Given the description of an element on the screen output the (x, y) to click on. 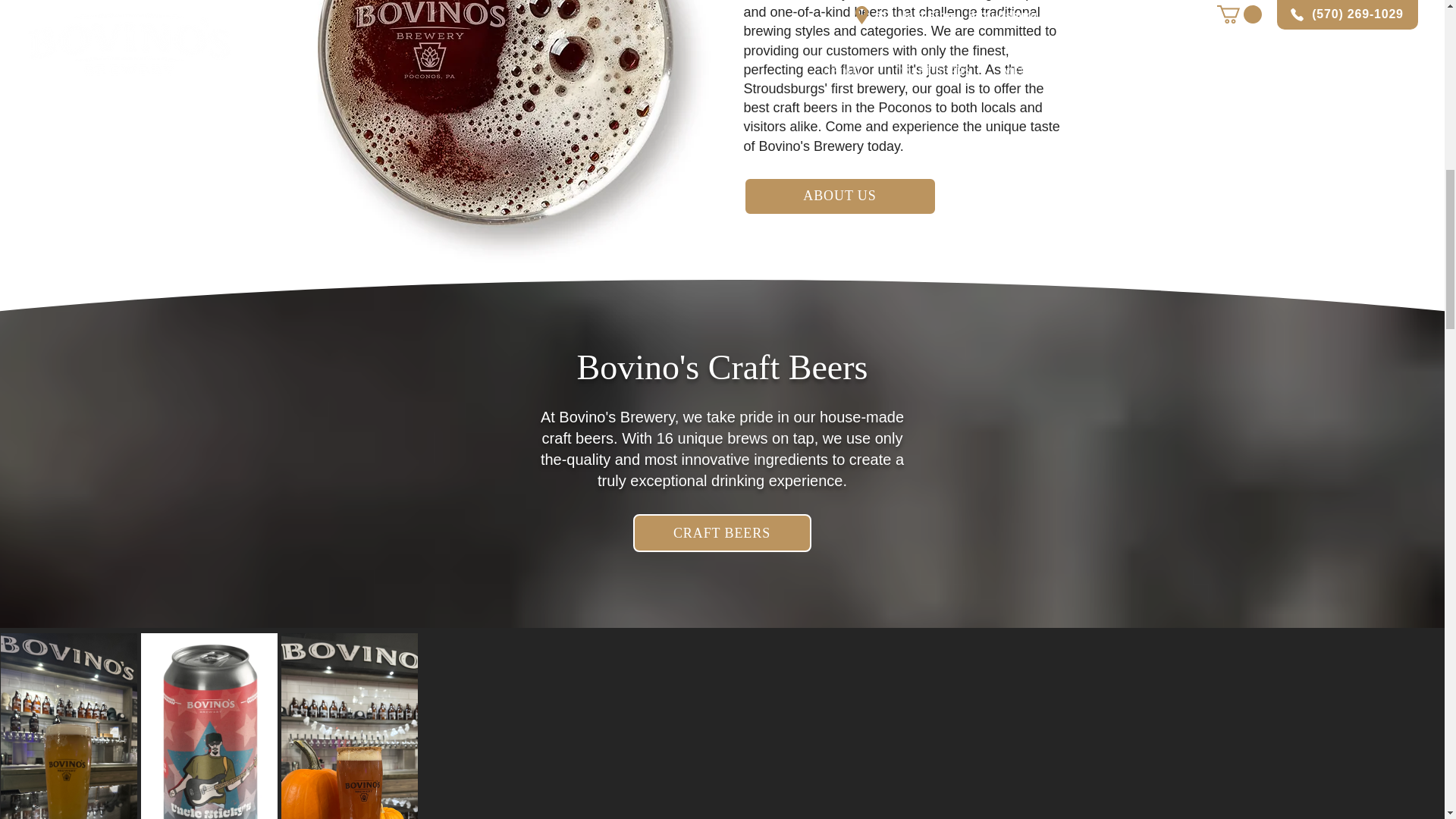
CRAFT BEERS (720, 533)
ABOUT US (839, 196)
